Given the description of an element on the screen output the (x, y) to click on. 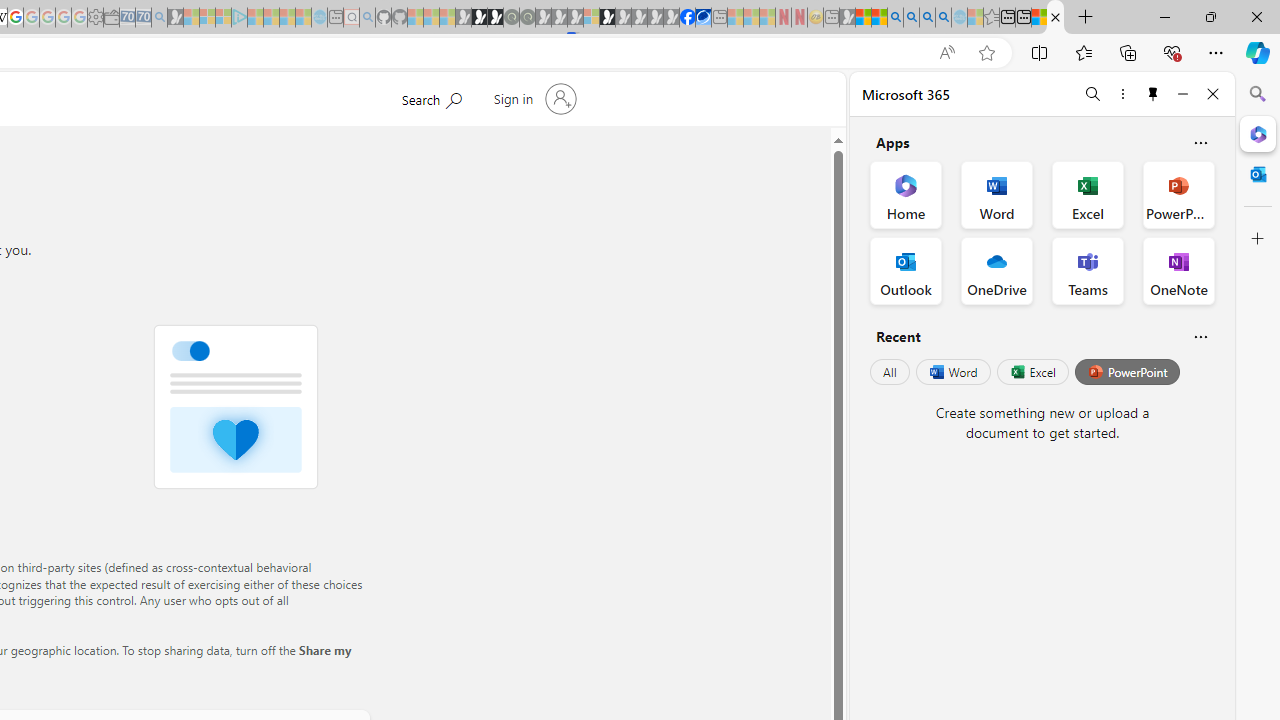
OneDrive Office App (996, 270)
PowerPoint (1127, 372)
Teams Office App (1087, 270)
Nordace | Facebook (687, 17)
AirNow.gov (703, 17)
